Given the description of an element on the screen output the (x, y) to click on. 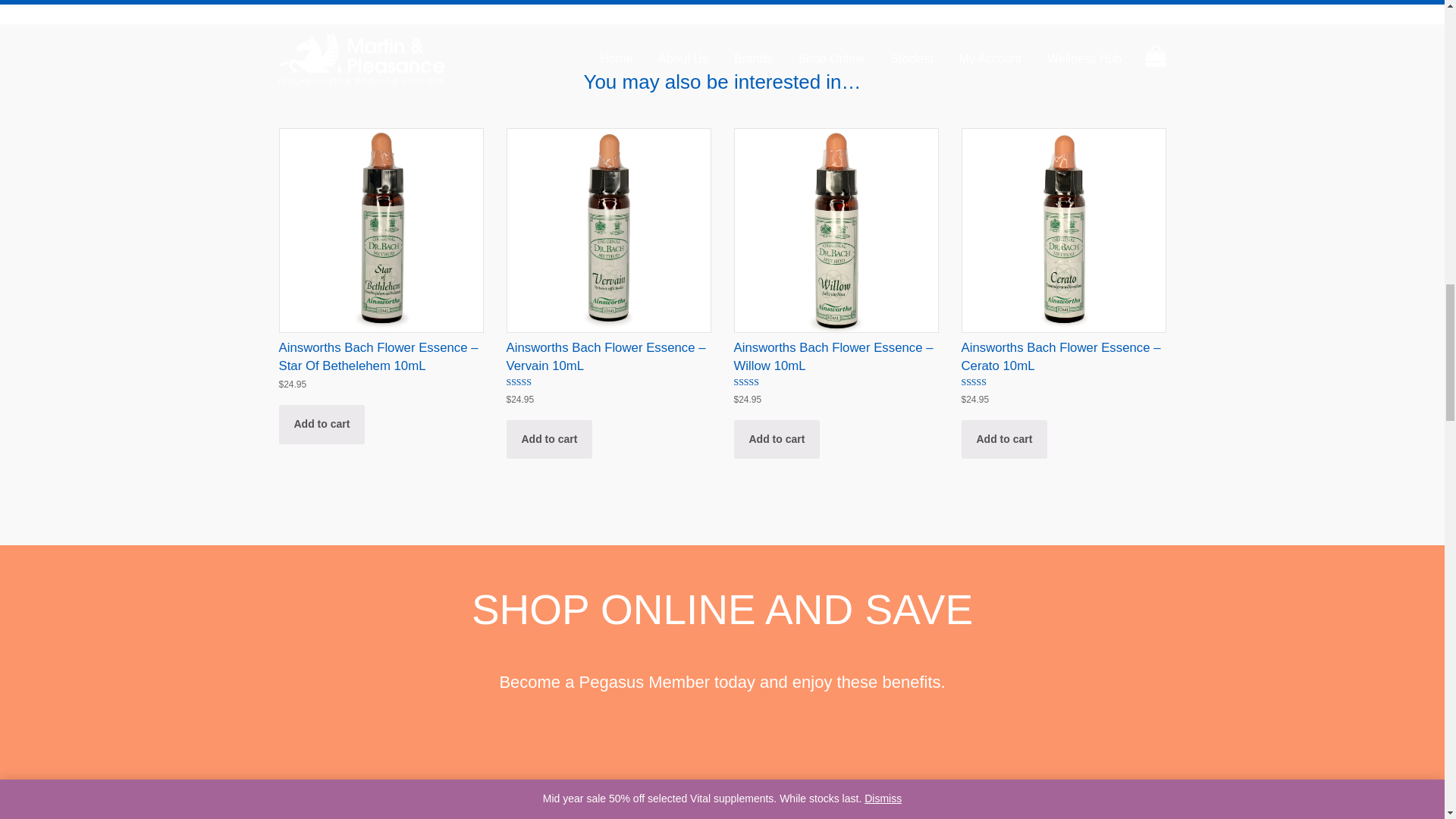
Truck (722, 800)
Gift (1034, 800)
Tag (409, 800)
